Given the description of an element on the screen output the (x, y) to click on. 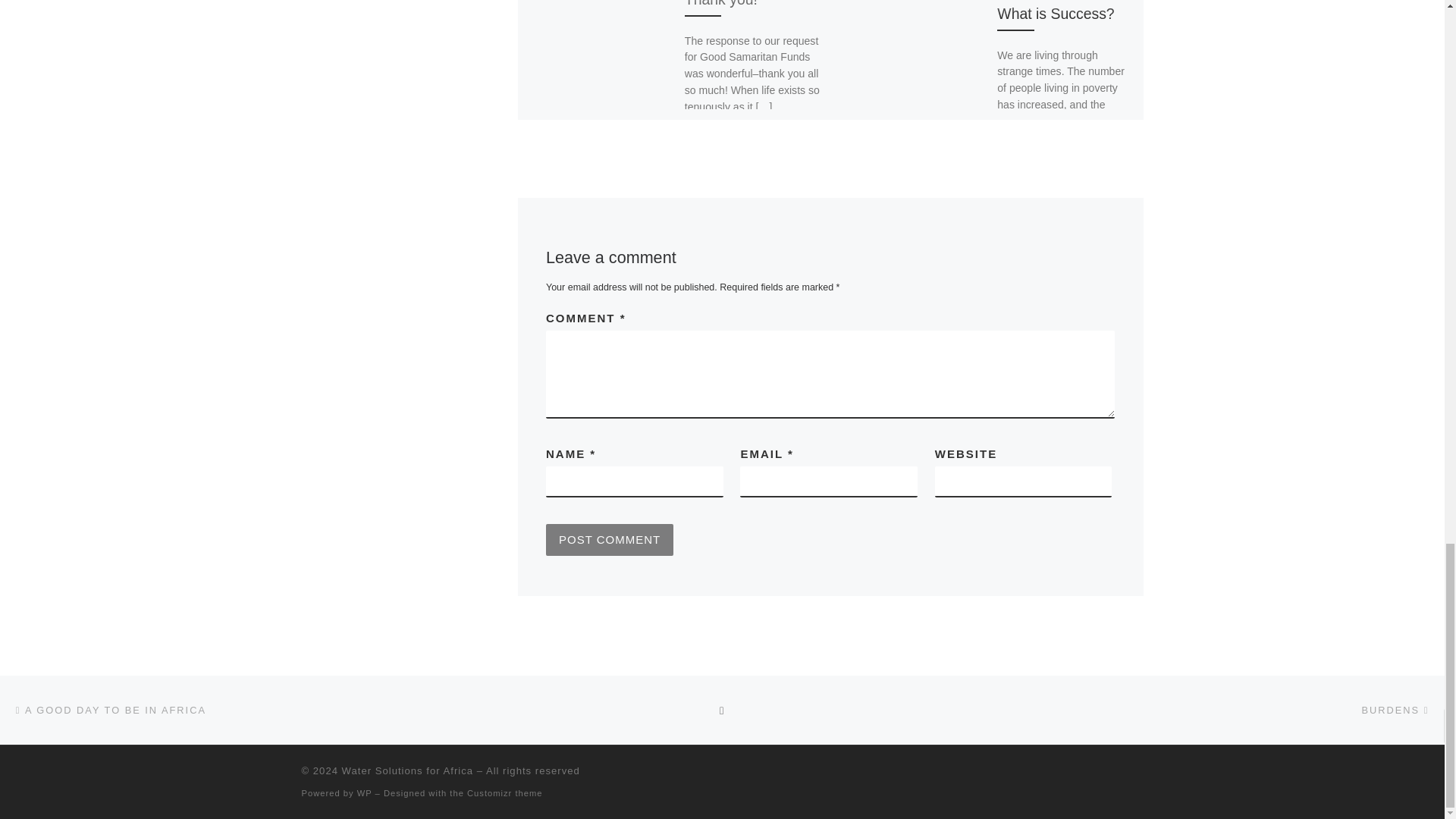
Post Comment (609, 540)
